Given the description of an element on the screen output the (x, y) to click on. 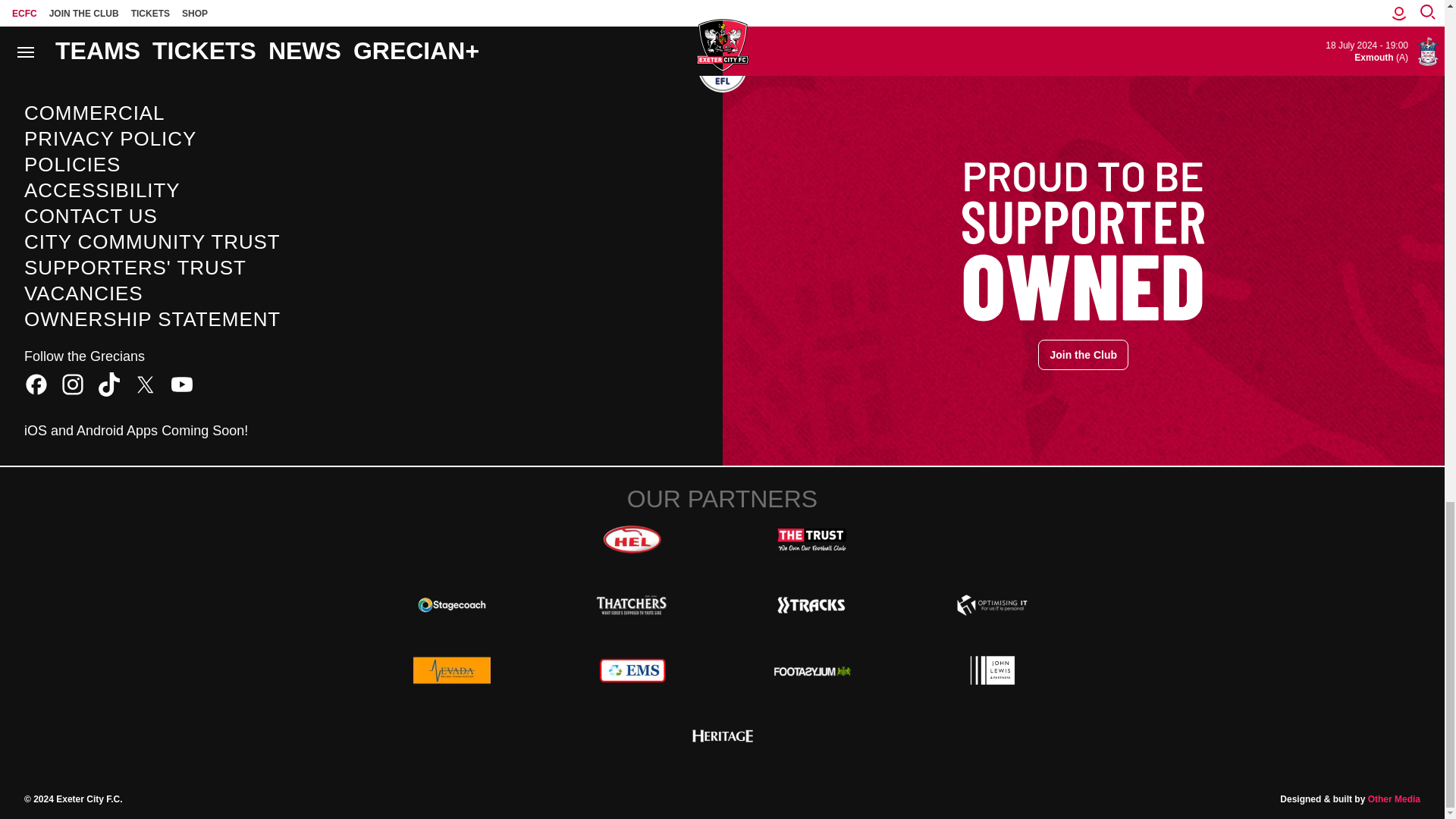
EMS (632, 669)
Tracks Suzuki (812, 604)
The Trust (812, 539)
X Formally know as Twitter (145, 384)
Heritage Developments (721, 735)
Facebook (36, 384)
Footasylum (812, 669)
Instagram (72, 384)
Optimising IT (991, 604)
TikTok icon (108, 384)
Thatchers (632, 604)
Stagecoach (451, 604)
HEL (632, 539)
John Lewis (991, 669)
Nevada Construction  (451, 669)
